Given the description of an element on the screen output the (x, y) to click on. 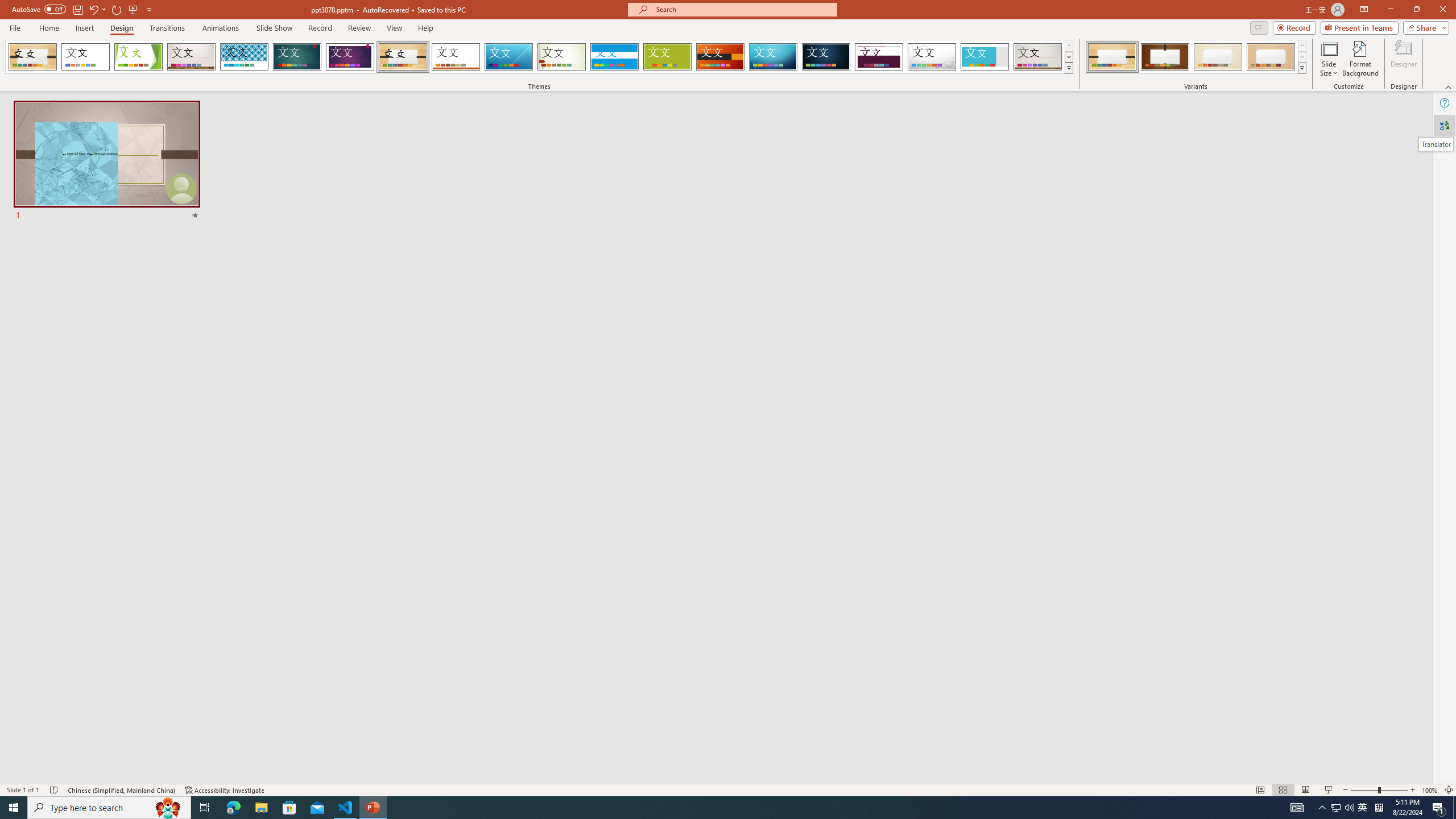
Organic Variant 1 (1112, 56)
Designer (1403, 58)
Row up (1301, 45)
Slice (508, 56)
Damask (826, 56)
AutomationID: SlideThemesGallery (539, 56)
